Given the description of an element on the screen output the (x, y) to click on. 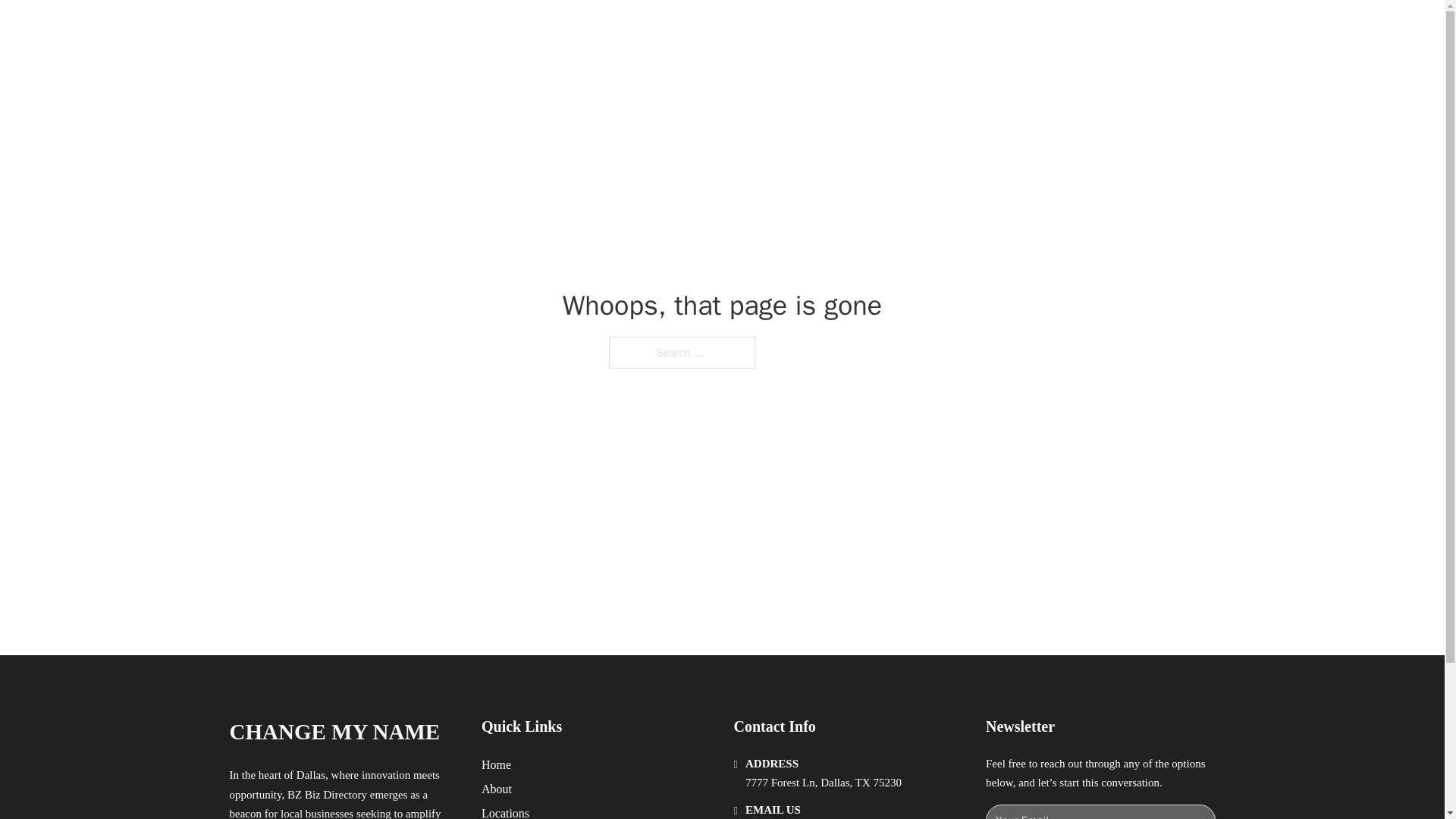
Home (496, 764)
About (496, 788)
CHANGE MY NAME (333, 732)
HOME (919, 29)
Locations (505, 811)
BZ BIZ DIRECTORY (403, 28)
LOCATIONS (990, 29)
